Given the description of an element on the screen output the (x, y) to click on. 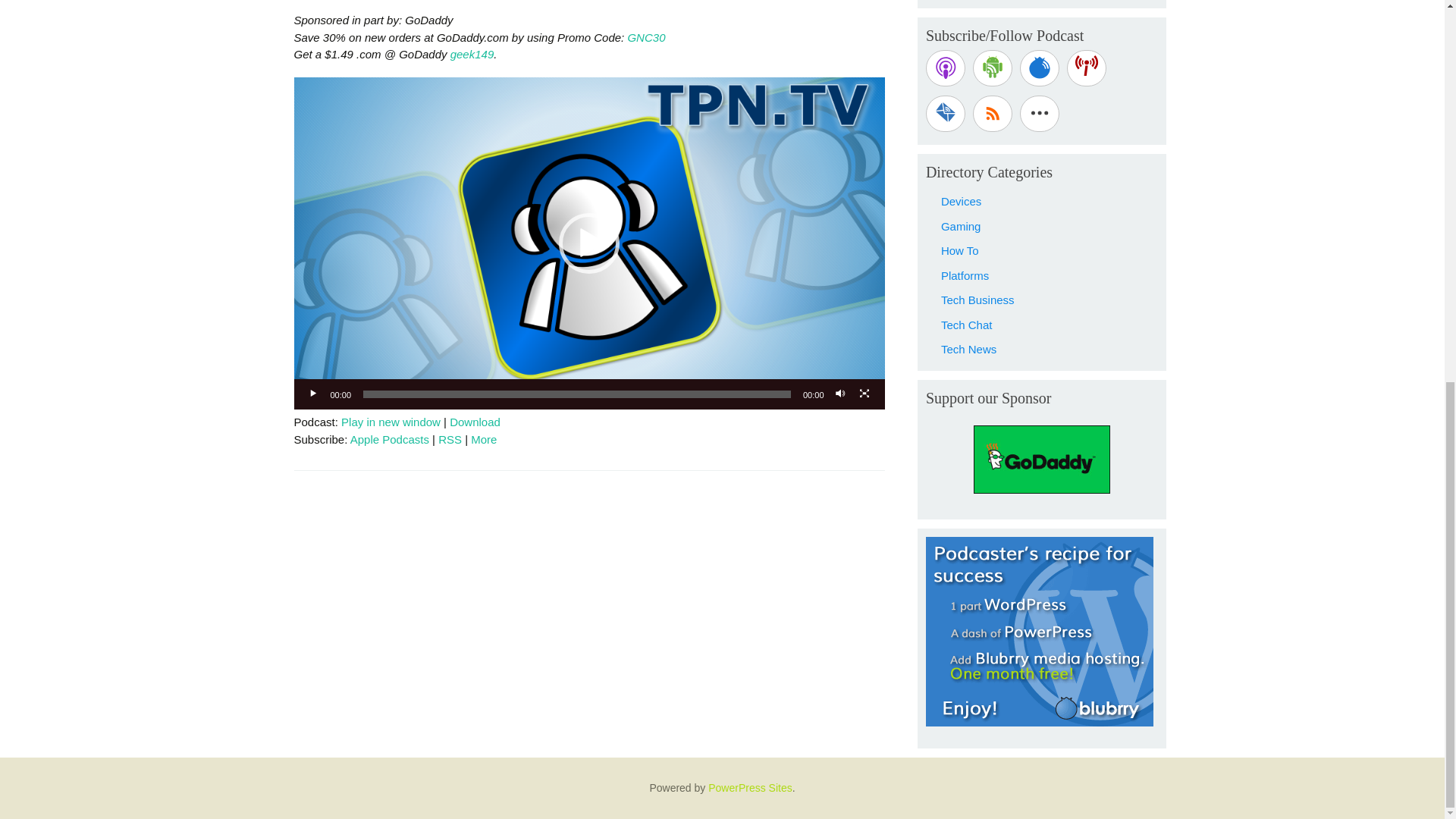
More (483, 439)
Mute (839, 394)
geek149 (472, 53)
Subscribe on Android (991, 67)
Download (474, 421)
Subscribe on Apple Podcasts (389, 439)
Apple Podcasts (389, 439)
More (483, 439)
Play (313, 394)
Download (474, 421)
